Given the description of an element on the screen output the (x, y) to click on. 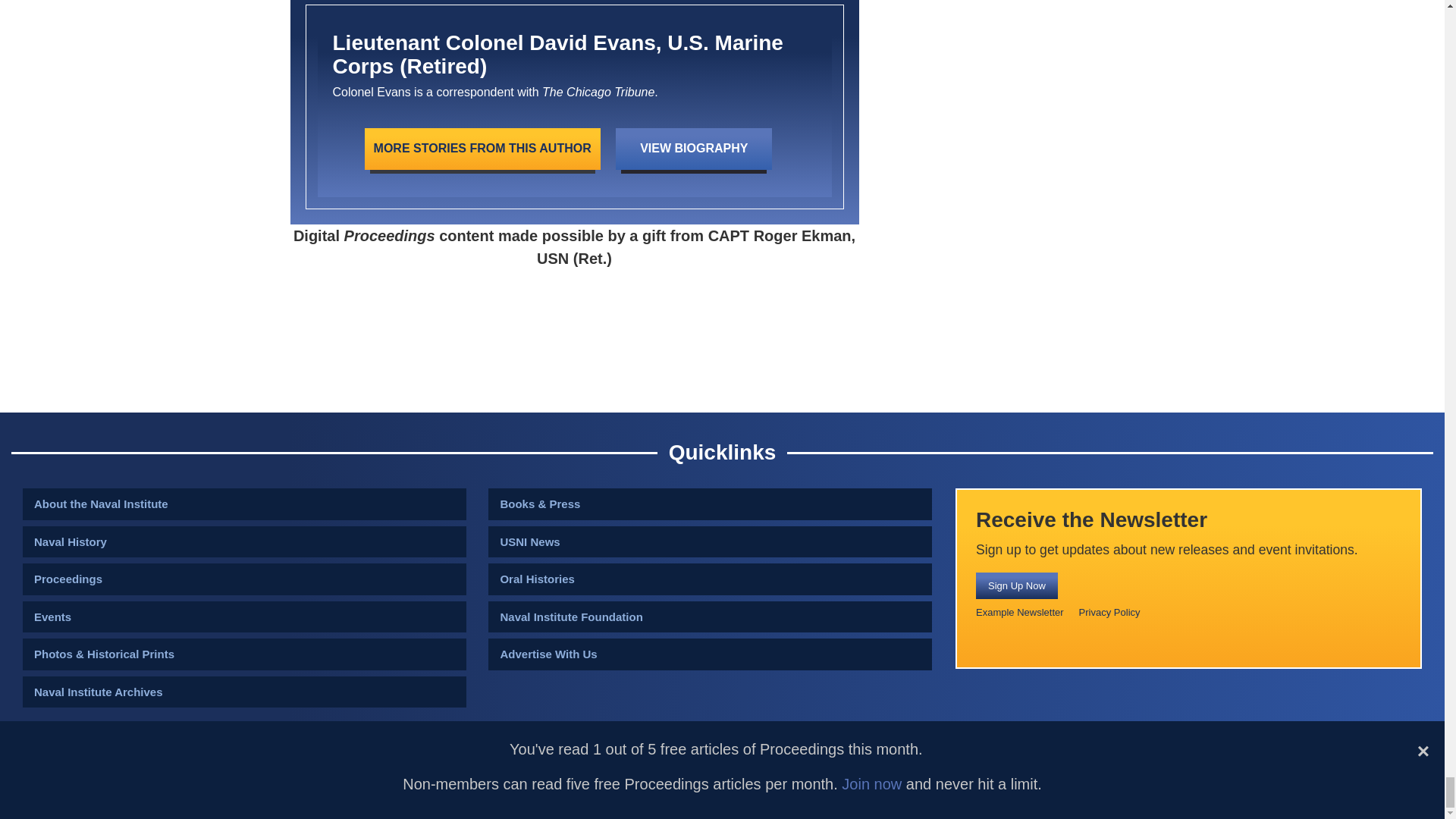
Advertise With Us (709, 653)
